Given the description of an element on the screen output the (x, y) to click on. 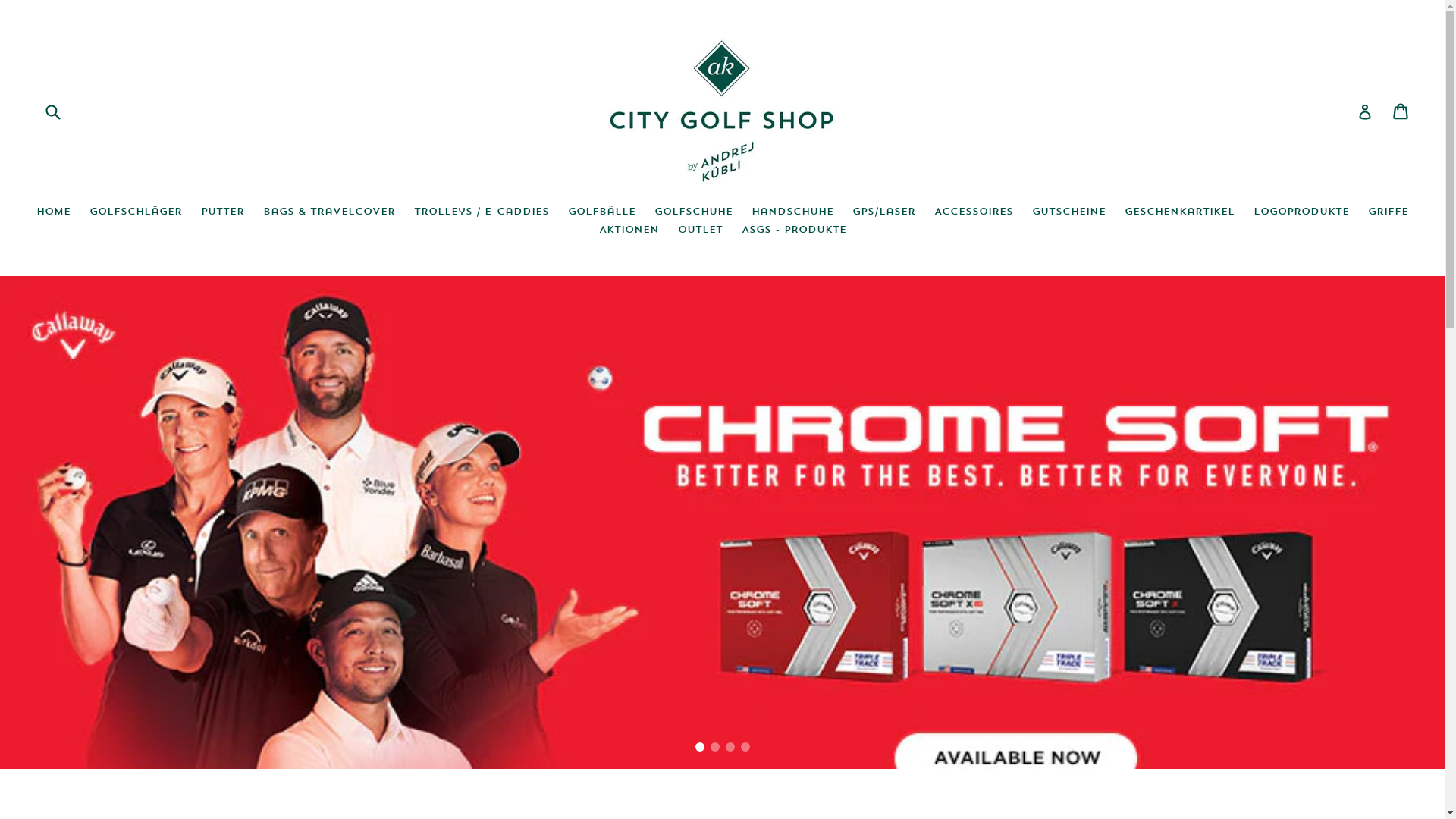
Outlet Element type: text (700, 230)
GPS/Laser Element type: text (883, 212)
Trolleys / E-Caddies Element type: text (481, 212)
Slide 3 Element type: text (729, 746)
Accessoires Element type: text (973, 212)
Logoprodukte Element type: text (1300, 212)
ASGS - PRODUKTE Element type: text (793, 230)
Geschenkartikel Element type: text (1179, 212)
Bags & Travelcover Element type: text (328, 212)
Slide 1 Element type: text (698, 746)
Griffe Element type: text (1387, 212)
Handschuhe Element type: text (791, 212)
Aktionen Element type: text (628, 230)
Einloggen Element type: text (1364, 110)
Home Element type: text (53, 212)
Golfschuhe Element type: text (693, 212)
Putter Element type: text (222, 212)
Slide 2 Element type: text (713, 746)
Gutscheine Element type: text (1068, 212)
Slide 4 Element type: text (744, 746)
Einkaufswagen
Einkaufswagen Element type: text (1401, 111)
Suchen Element type: text (51, 111)
